Given the description of an element on the screen output the (x, y) to click on. 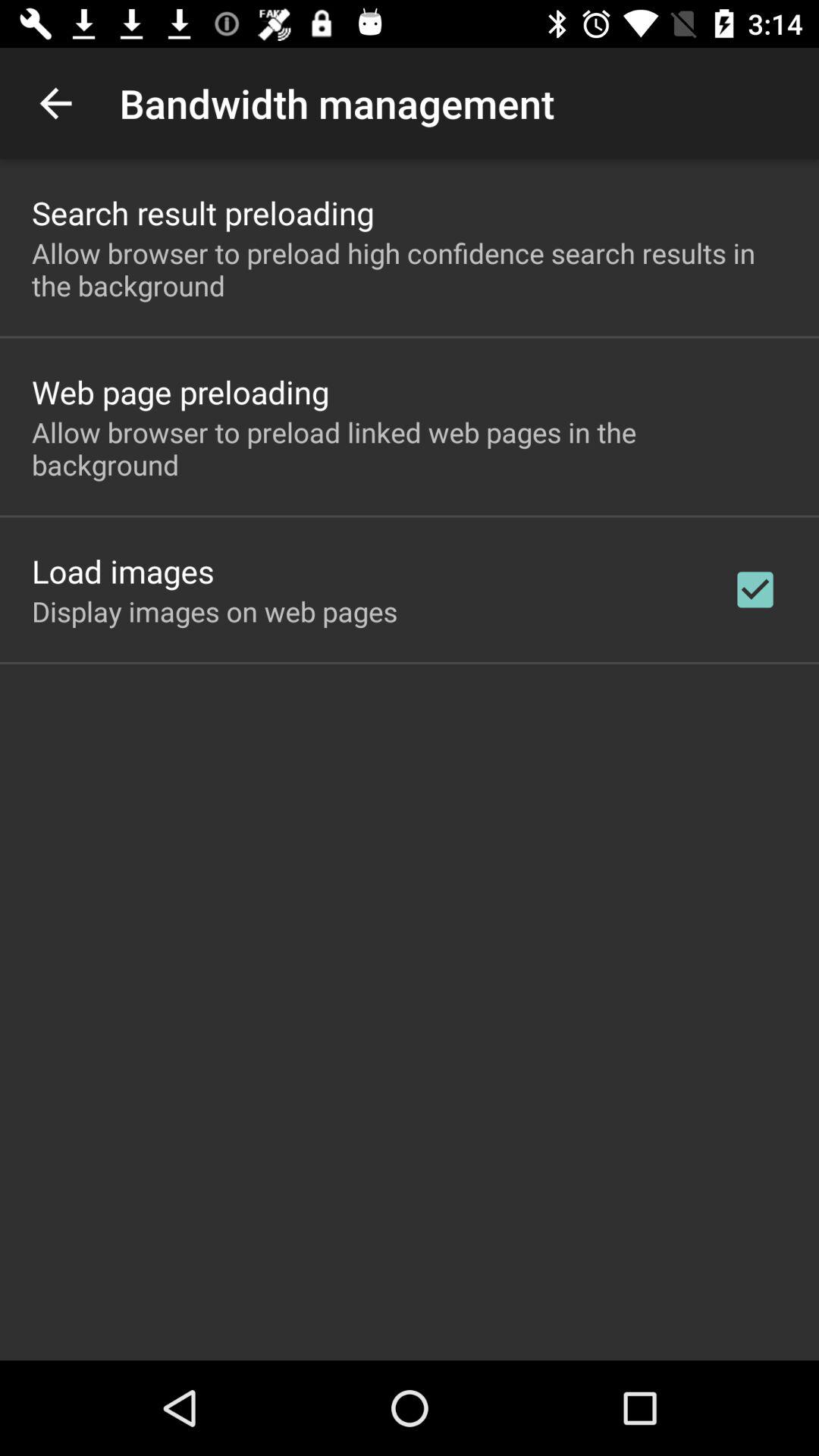
choose checkbox on the right (755, 589)
